Given the description of an element on the screen output the (x, y) to click on. 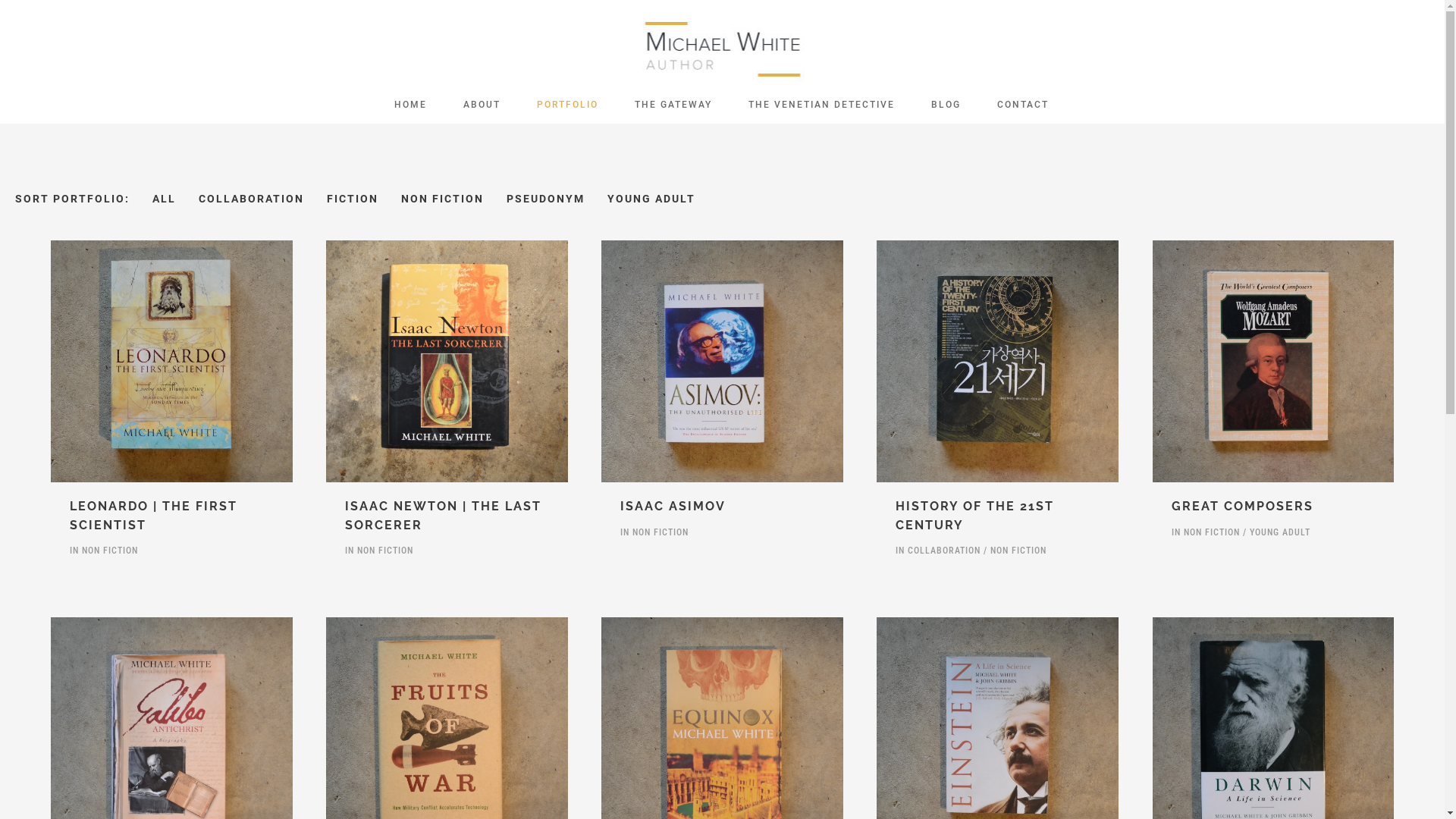
PORTFOLIO Element type: text (567, 104)
BLOG Element type: text (946, 104)
GREAT COMPOSERS Element type: text (1241, 505)
THE VENETIAN DETECTIVE Element type: text (820, 104)
ISAAC ASIMOV Element type: text (672, 505)
HOME Element type: text (410, 104)
ABOUT Element type: text (480, 104)
ISAAC NEWTON | THE LAST SORCERER Element type: text (443, 515)
THE GATEWAY Element type: text (672, 104)
LEONARDO | THE FIRST SCIENTIST Element type: text (153, 515)
CONTACT Element type: text (1022, 104)
HISTORY OF THE 21ST CENTURY Element type: text (974, 515)
